Given the description of an element on the screen output the (x, y) to click on. 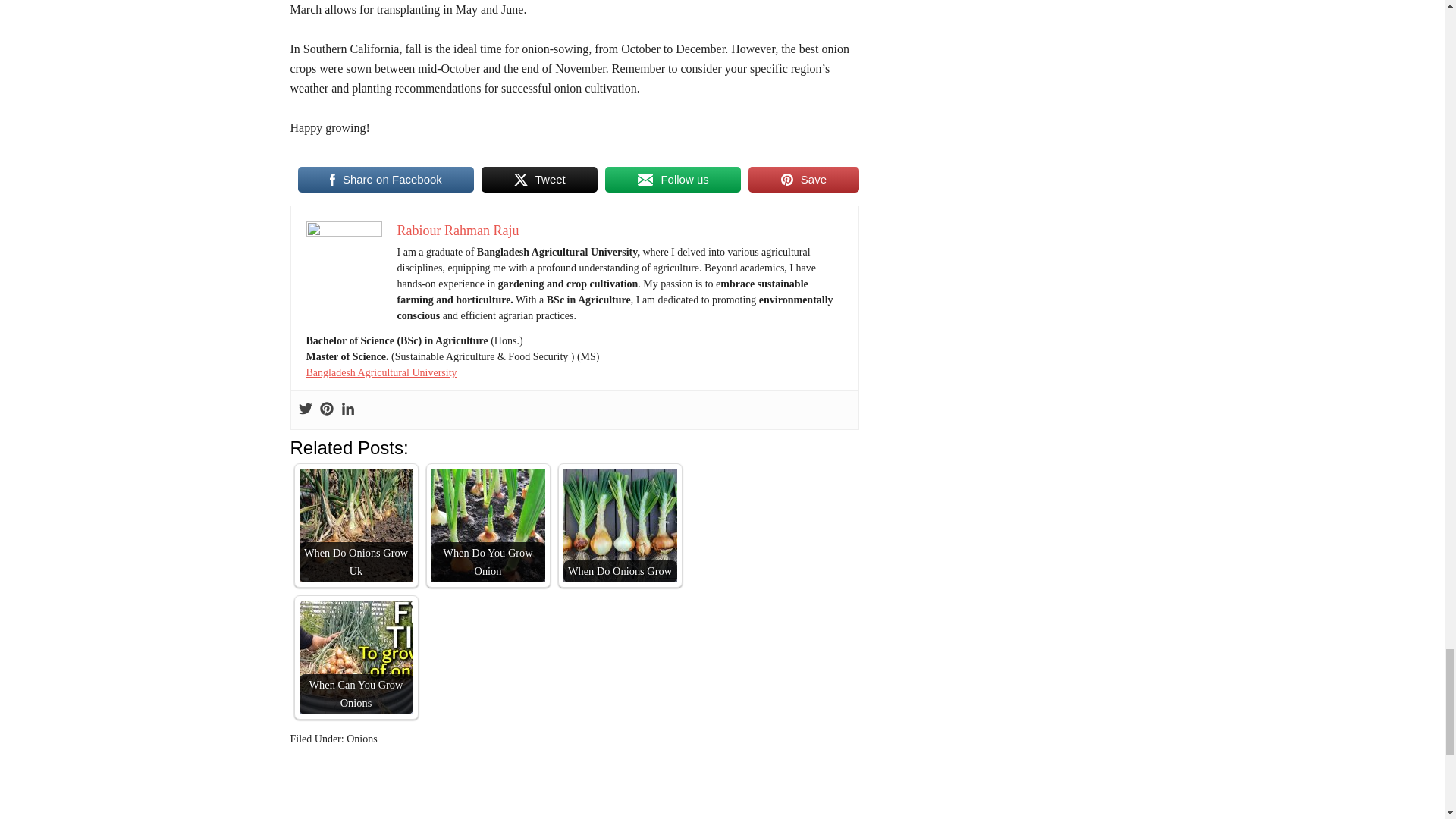
When Can You Grow Onions (355, 657)
Bangladesh Agricultural University (381, 372)
When Do You Grow Onion (487, 525)
Share on Facebook (385, 179)
When Do Onions Grow (619, 525)
Follow us (673, 179)
Tweet (538, 179)
Rabiour Rahman Raju (458, 230)
When Do Onions Grow Uk (355, 525)
Save (803, 179)
